Given the description of an element on the screen output the (x, y) to click on. 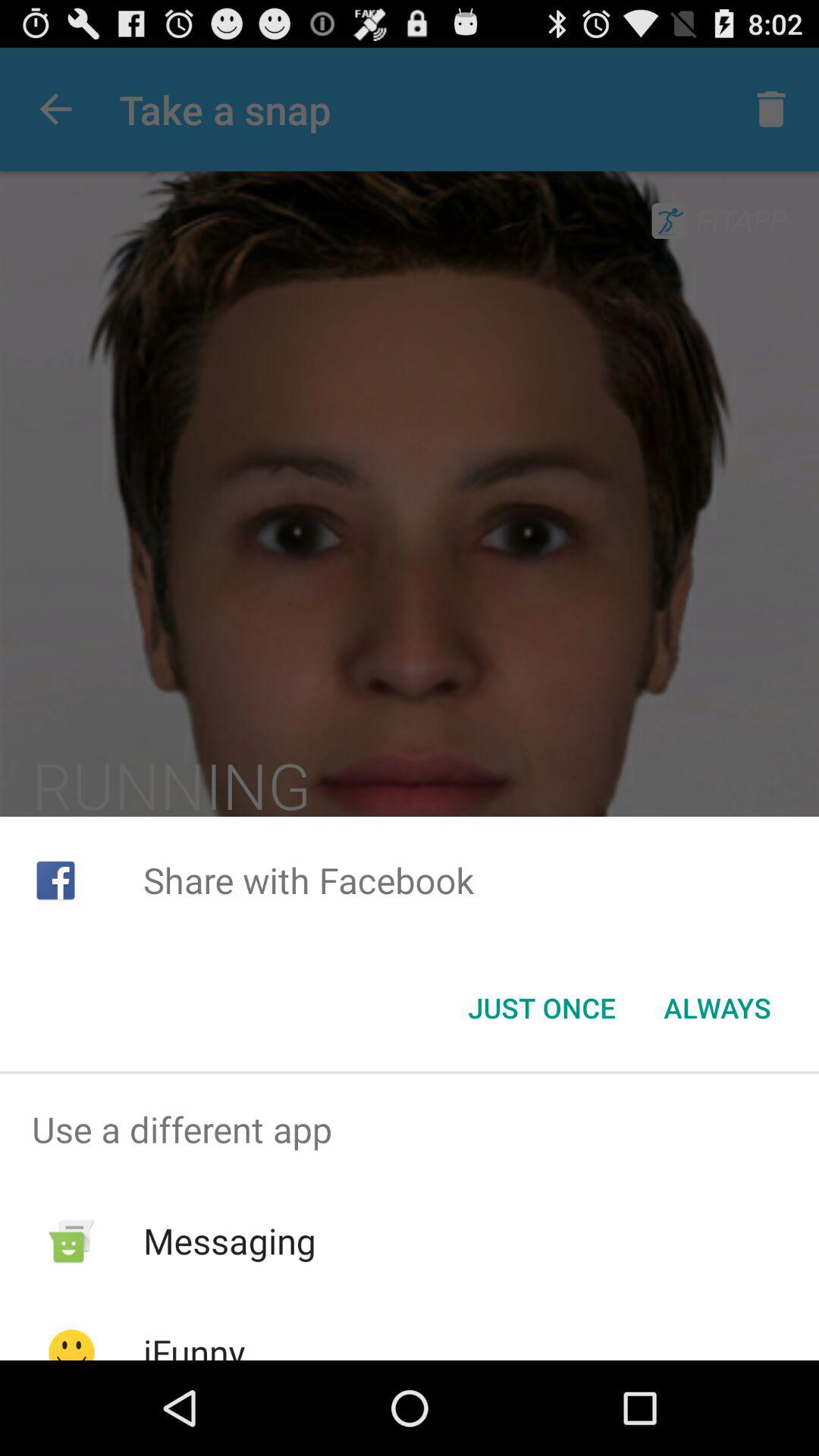
tap button to the left of always button (541, 1007)
